Given the description of an element on the screen output the (x, y) to click on. 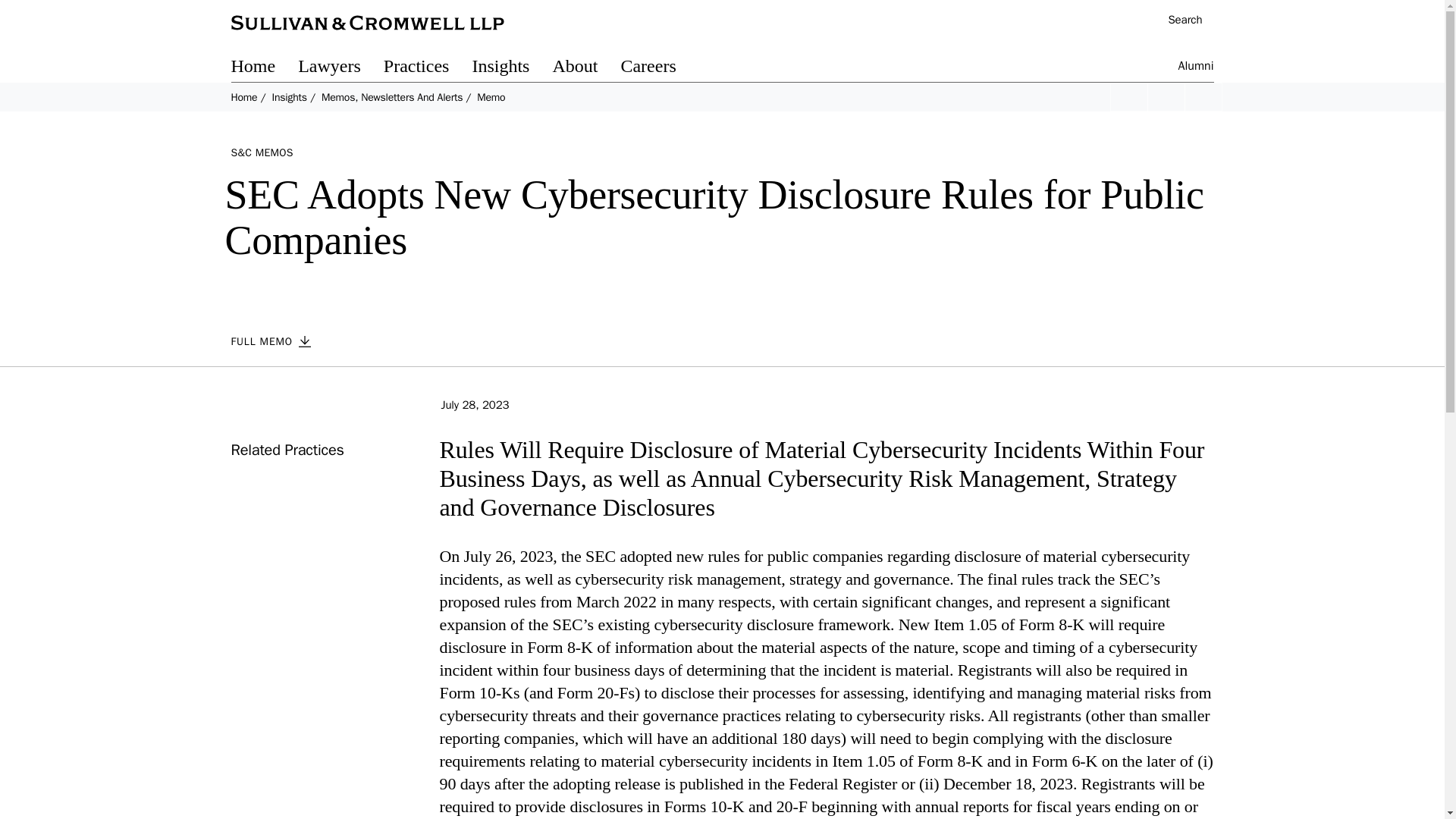
Memos, Newsletters And Alerts (392, 97)
Home (264, 67)
FULL MEMO (279, 341)
Practices (427, 67)
Careers (659, 67)
Search (1176, 20)
Lawyers (341, 67)
Insights (511, 67)
Home (243, 97)
Related Practices (286, 449)
About (585, 67)
Alumni (1195, 67)
Insights (287, 97)
